Given the description of an element on the screen output the (x, y) to click on. 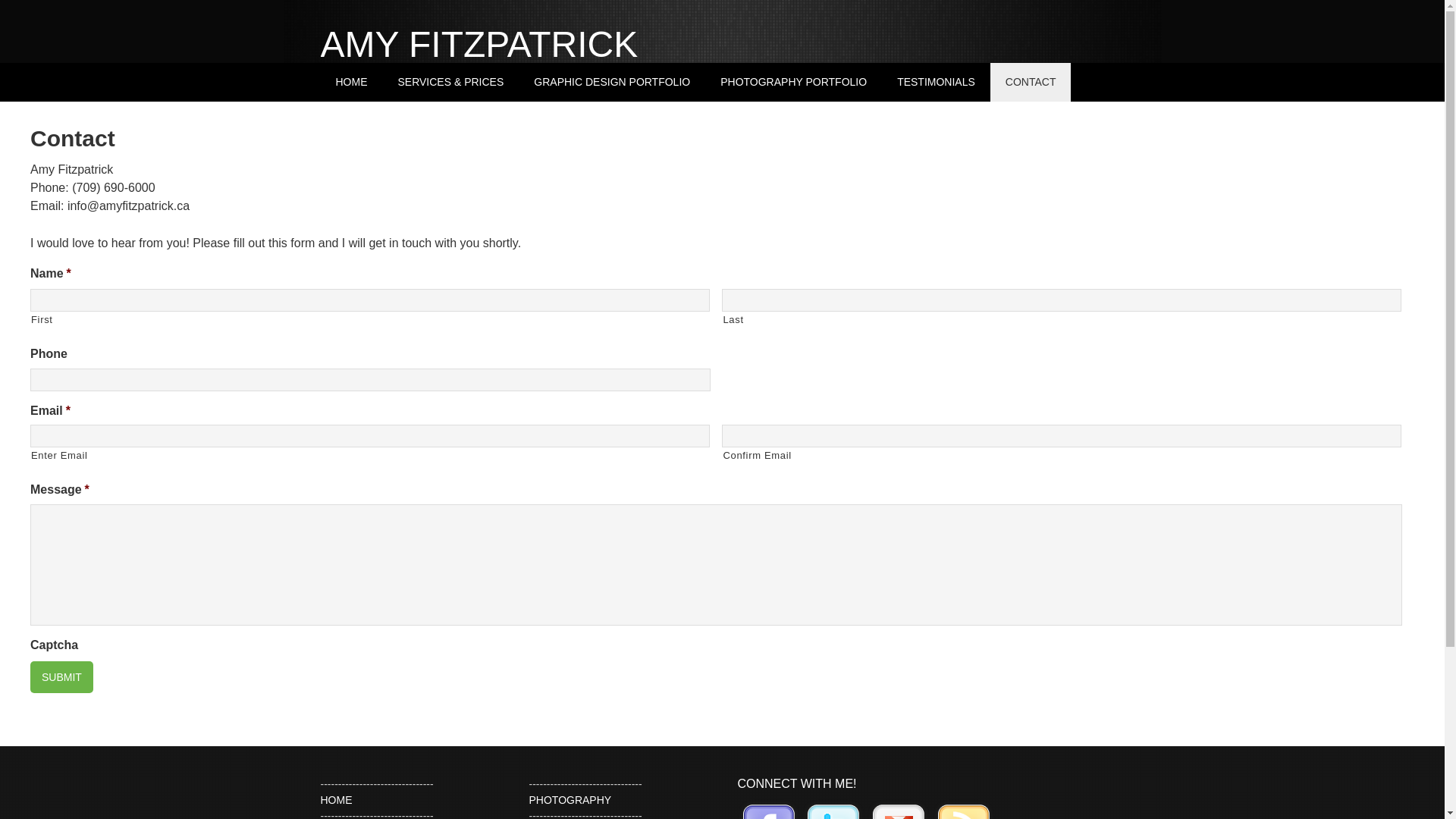
CONTACT Element type: text (1030, 81)
HOME Element type: text (351, 81)
TESTIMONIALS Element type: text (935, 81)
HOME Element type: text (335, 799)
Submit Element type: text (61, 677)
GRAPHIC DESIGN PORTFOLIO Element type: text (611, 81)
AMY FITZPATRICK Element type: text (478, 44)
PHOTOGRAPHY PORTFOLIO Element type: text (793, 81)
PHOTOGRAPHY Element type: text (570, 799)
SERVICES & PRICES Element type: text (450, 81)
